Given the description of an element on the screen output the (x, y) to click on. 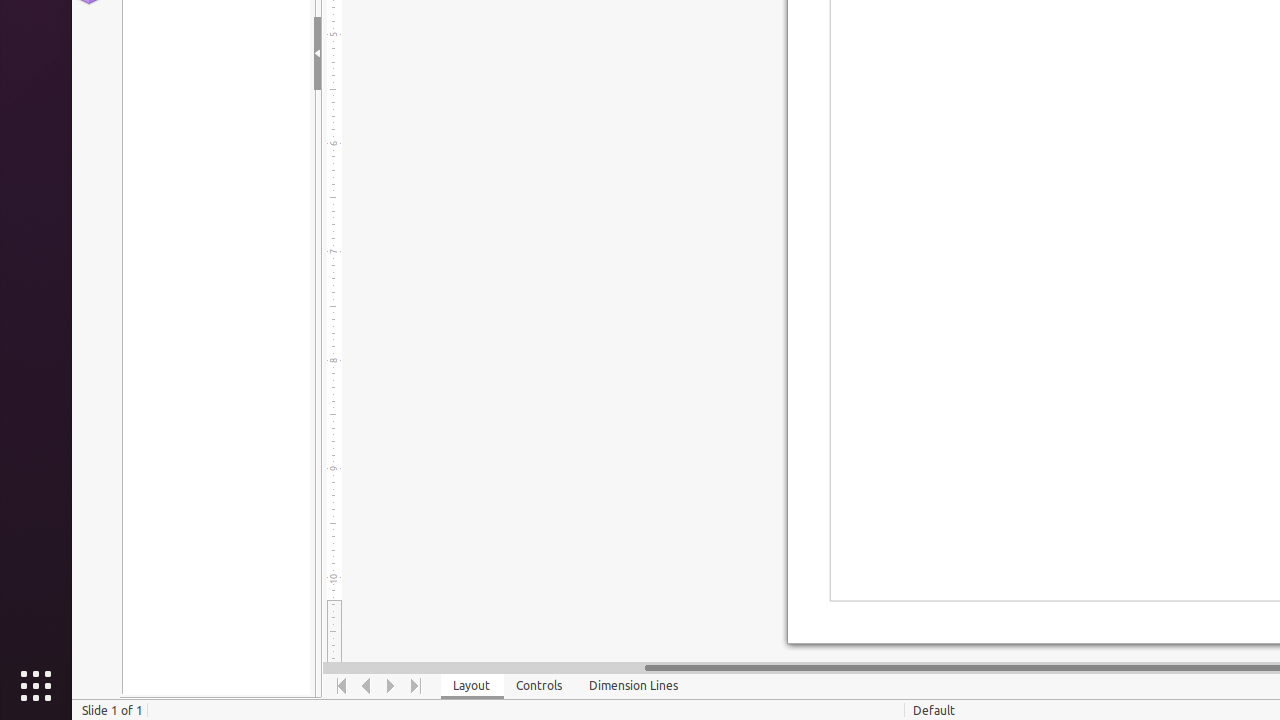
Move To End Element type: push-button (416, 686)
Show Applications Element type: toggle-button (36, 686)
Move Left Element type: push-button (366, 686)
Layout Element type: page-tab (472, 686)
Dimension Lines Element type: page-tab (634, 686)
